Given the description of an element on the screen output the (x, y) to click on. 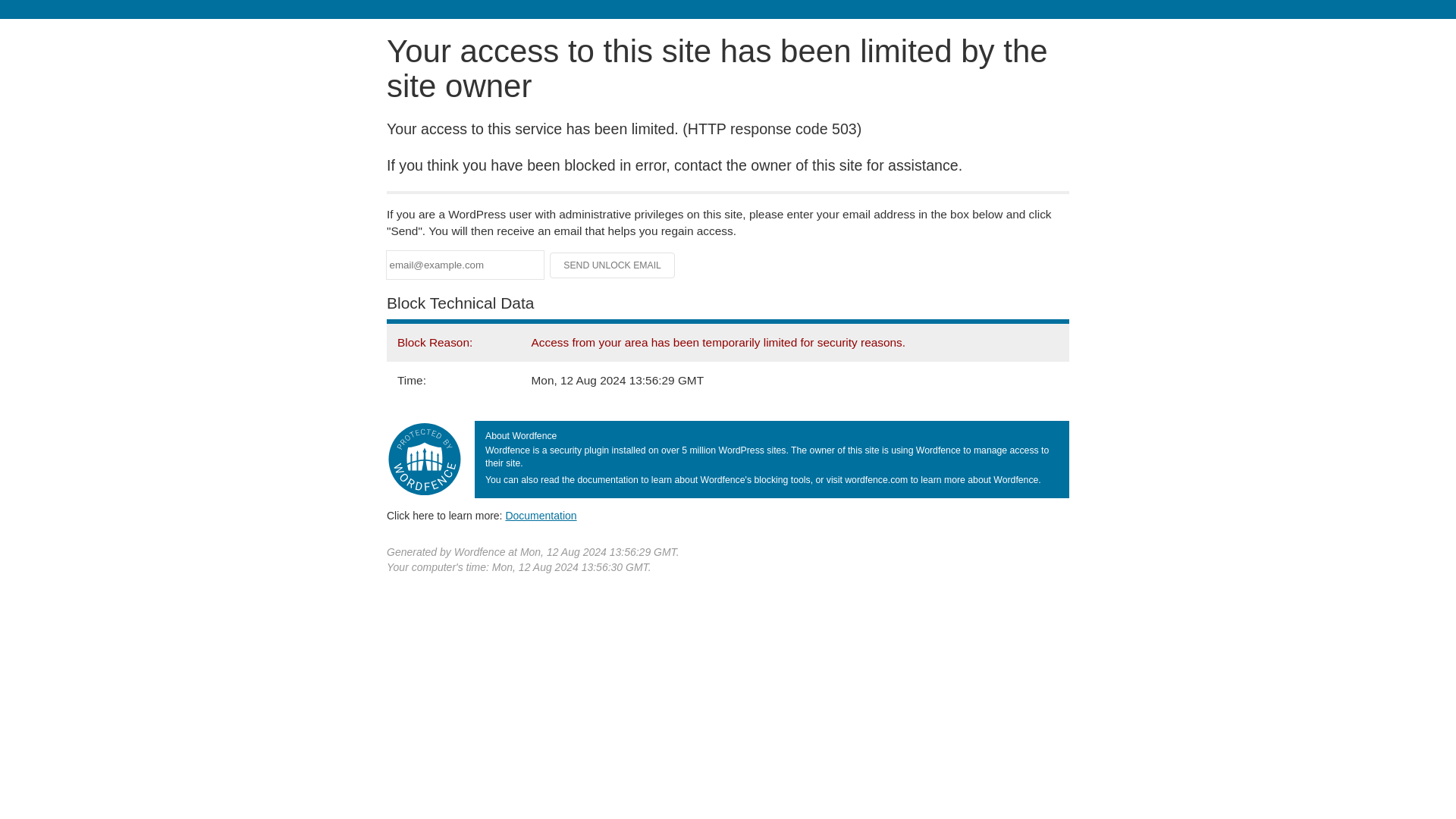
Documentation (540, 515)
Send Unlock Email (612, 265)
Send Unlock Email (612, 265)
